Given the description of an element on the screen output the (x, y) to click on. 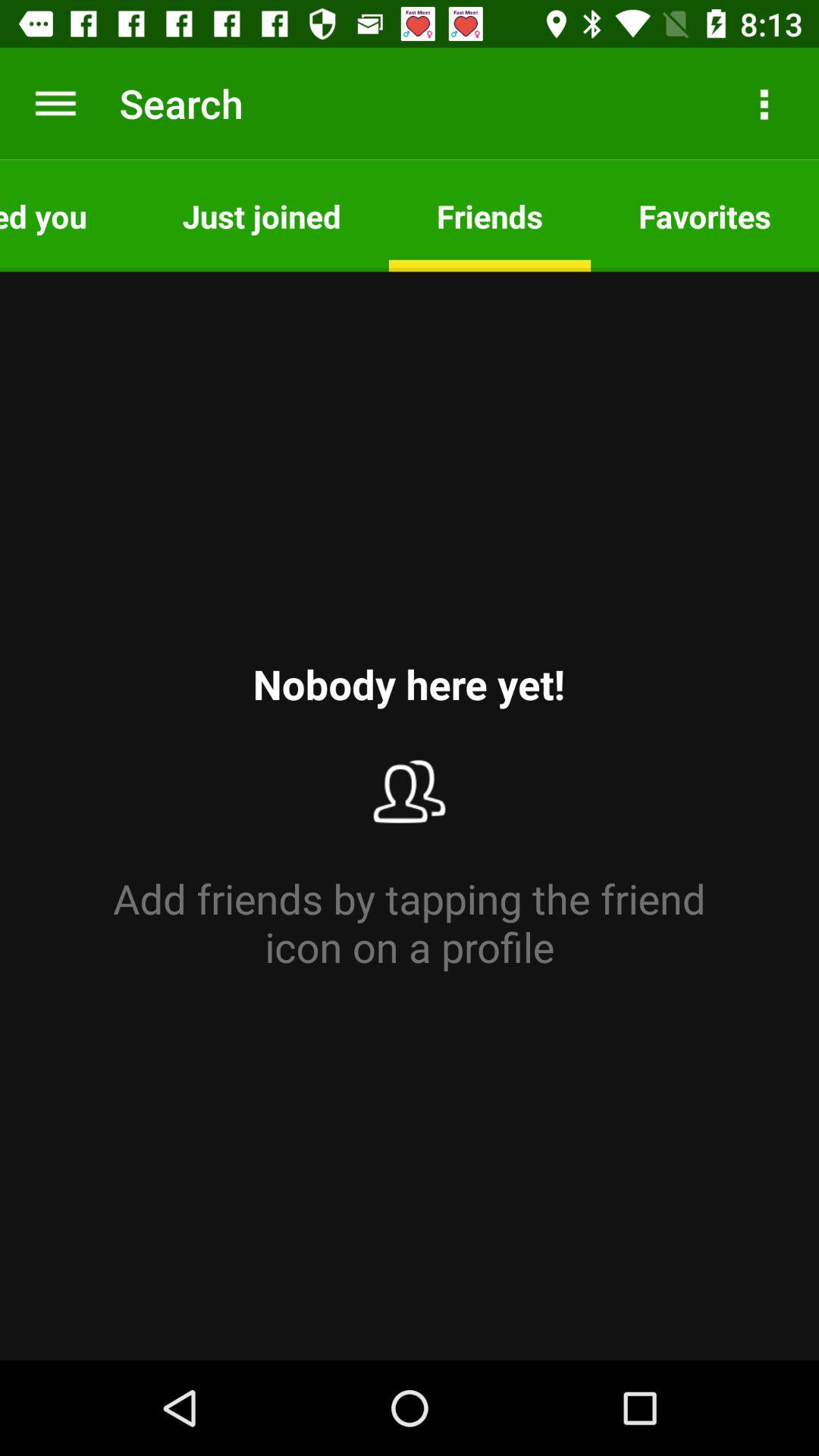
open the item to the left of the friends (261, 215)
